Given the description of an element on the screen output the (x, y) to click on. 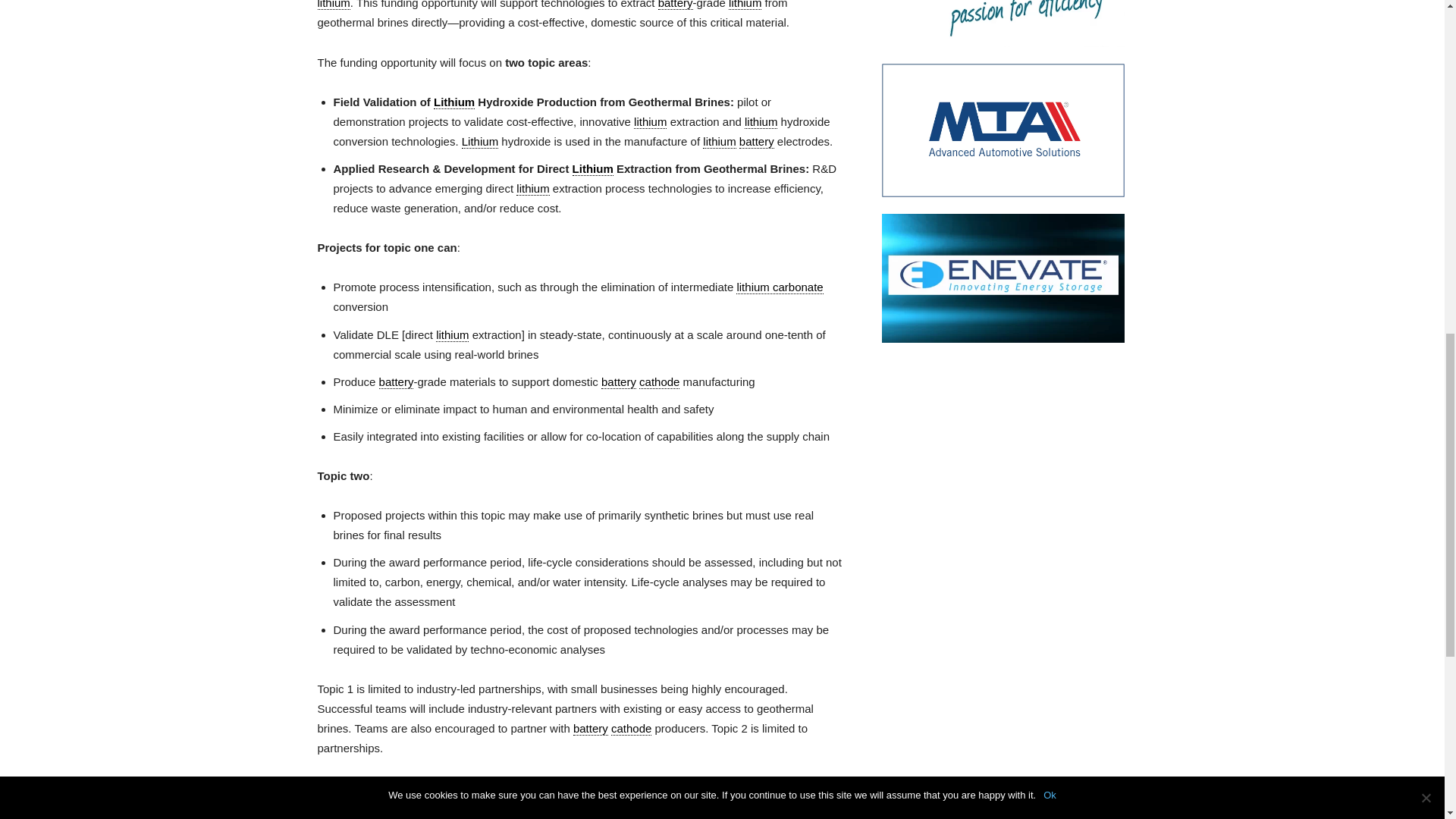
Glossary: Battery (675, 4)
Glossary: Lithium (333, 4)
Glossary: Lithium (453, 101)
Glossary: Lithium (745, 4)
